Given the description of an element on the screen output the (x, y) to click on. 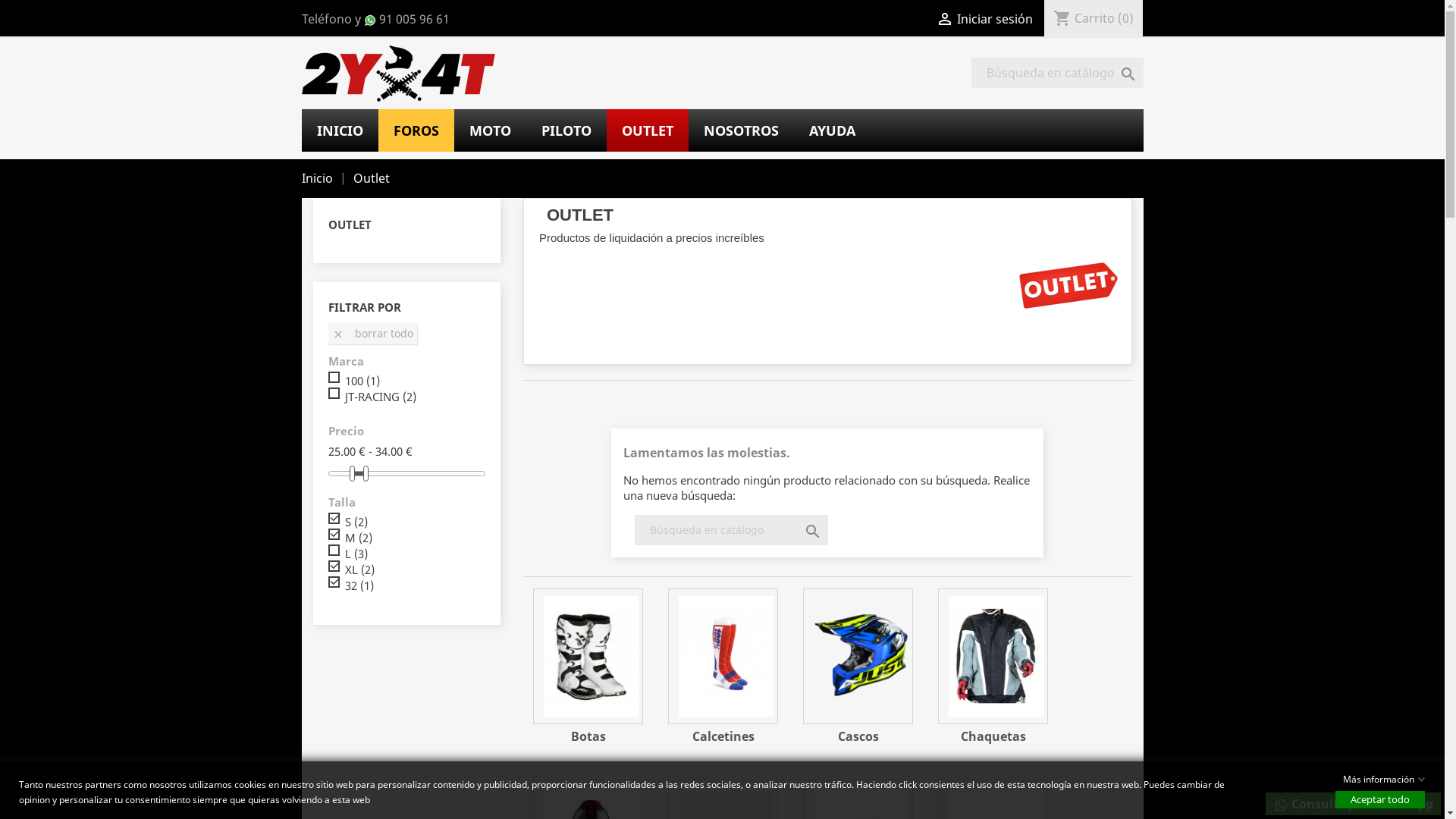
MOTO Element type: text (489, 130)
Inicio Element type: text (318, 177)
Consulte por Whatsapp Element type: text (1352, 803)
PILOTO Element type: text (566, 130)
OUTLET Element type: text (647, 130)
Cascos Element type: hover (858, 656)
Calcetines Element type: hover (723, 656)
INICIO Element type: text (339, 130)
Outlet Element type: text (371, 177)
JT-RACING (2) Element type: text (379, 396)
NOSOTROS Element type: text (740, 130)
Chaquetas Element type: hover (993, 656)
M (2) Element type: text (357, 537)
S (2) Element type: text (355, 521)
XL (2) Element type: text (358, 569)
32 (1) Element type: text (358, 585)
Chaquetas Element type: text (992, 736)
AYUDA Element type: text (831, 130)
100 (1) Element type: text (361, 380)
Calcetines Element type: text (722, 736)
Cascos Element type: text (857, 736)
Botas Element type: text (587, 736)
Aceptar todo Element type: text (1379, 799)
FOROS Element type: text (415, 130)
L (3) Element type: text (355, 553)
OUTLET Element type: text (348, 224)
Botas Element type: hover (588, 656)
